Given the description of an element on the screen output the (x, y) to click on. 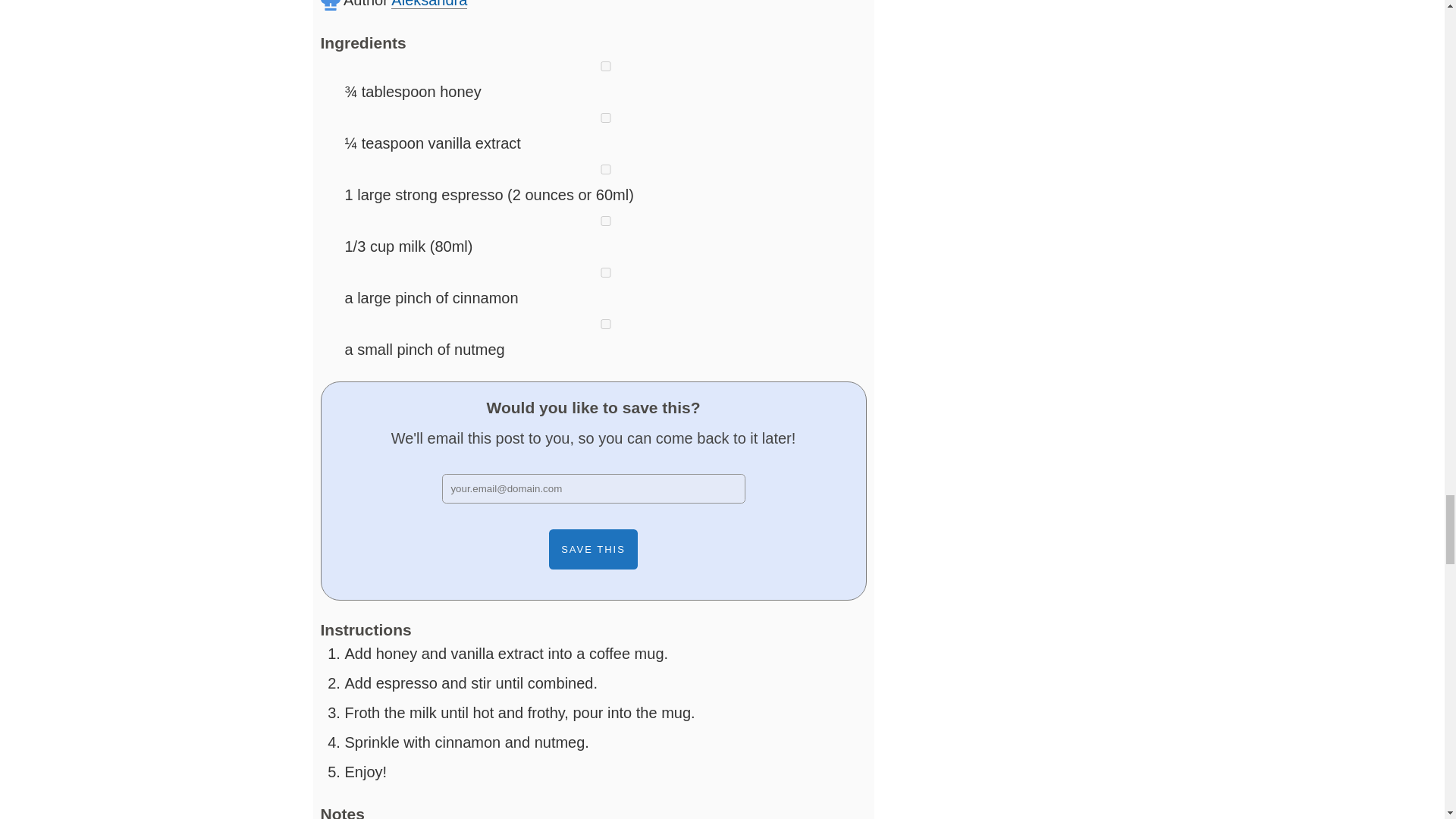
on (604, 324)
on (604, 66)
on (604, 117)
on (604, 221)
on (604, 272)
on (604, 169)
Save This (592, 549)
